Given the description of an element on the screen output the (x, y) to click on. 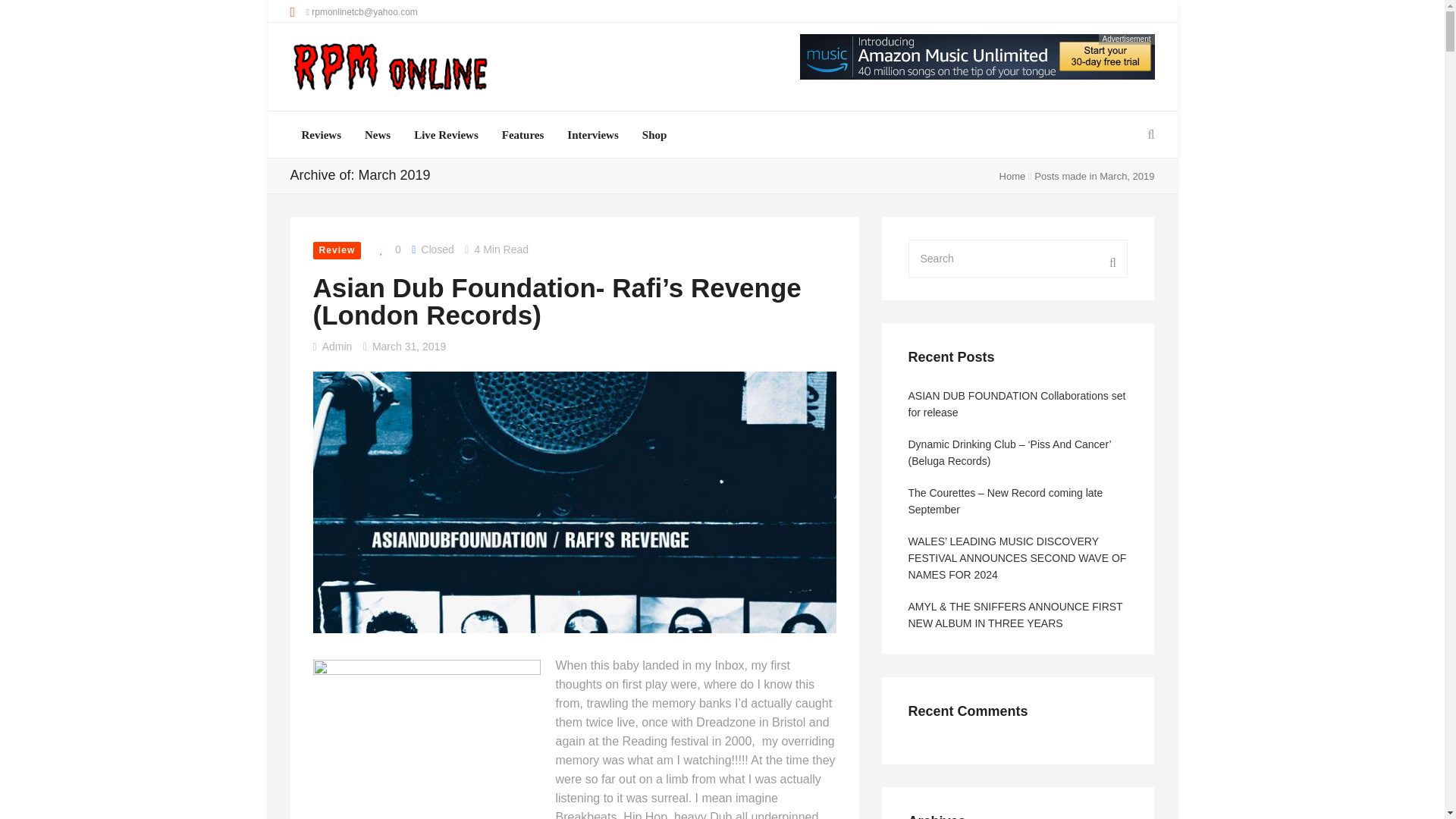
Live Reviews (446, 135)
Live Reviews (446, 135)
Like this (386, 249)
RPM Online (389, 68)
ASIAN DUB FOUNDATION Collaborations set for release (27, 358)
Features (523, 135)
Interviews (592, 135)
